Given the description of an element on the screen output the (x, y) to click on. 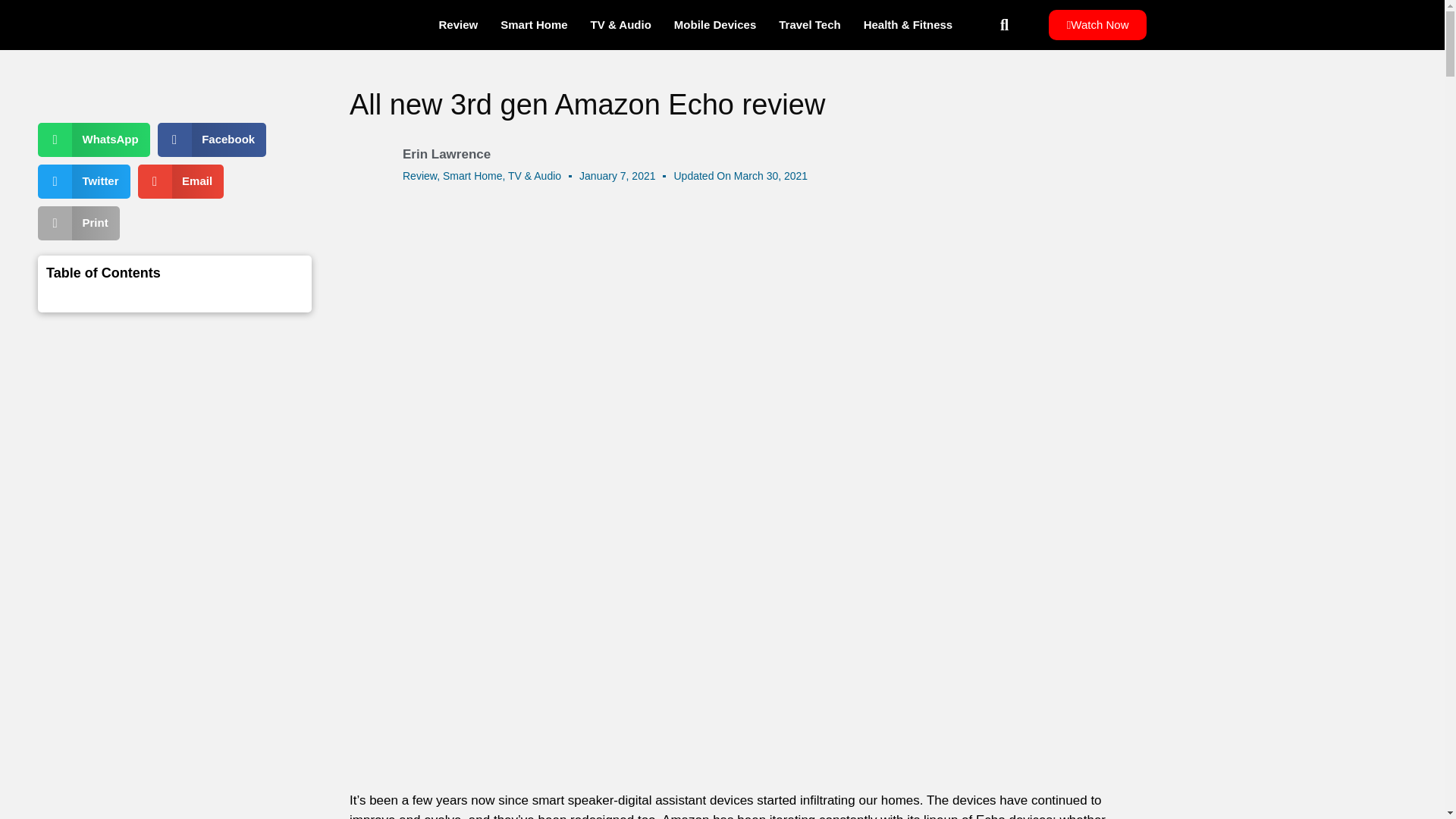
Review (419, 175)
January 7, 2021 (617, 176)
Travel Tech (809, 24)
Mobile Devices (714, 24)
Smart Home (472, 175)
Smart Home (533, 24)
Review (458, 24)
Watch Now (1097, 24)
